Given the description of an element on the screen output the (x, y) to click on. 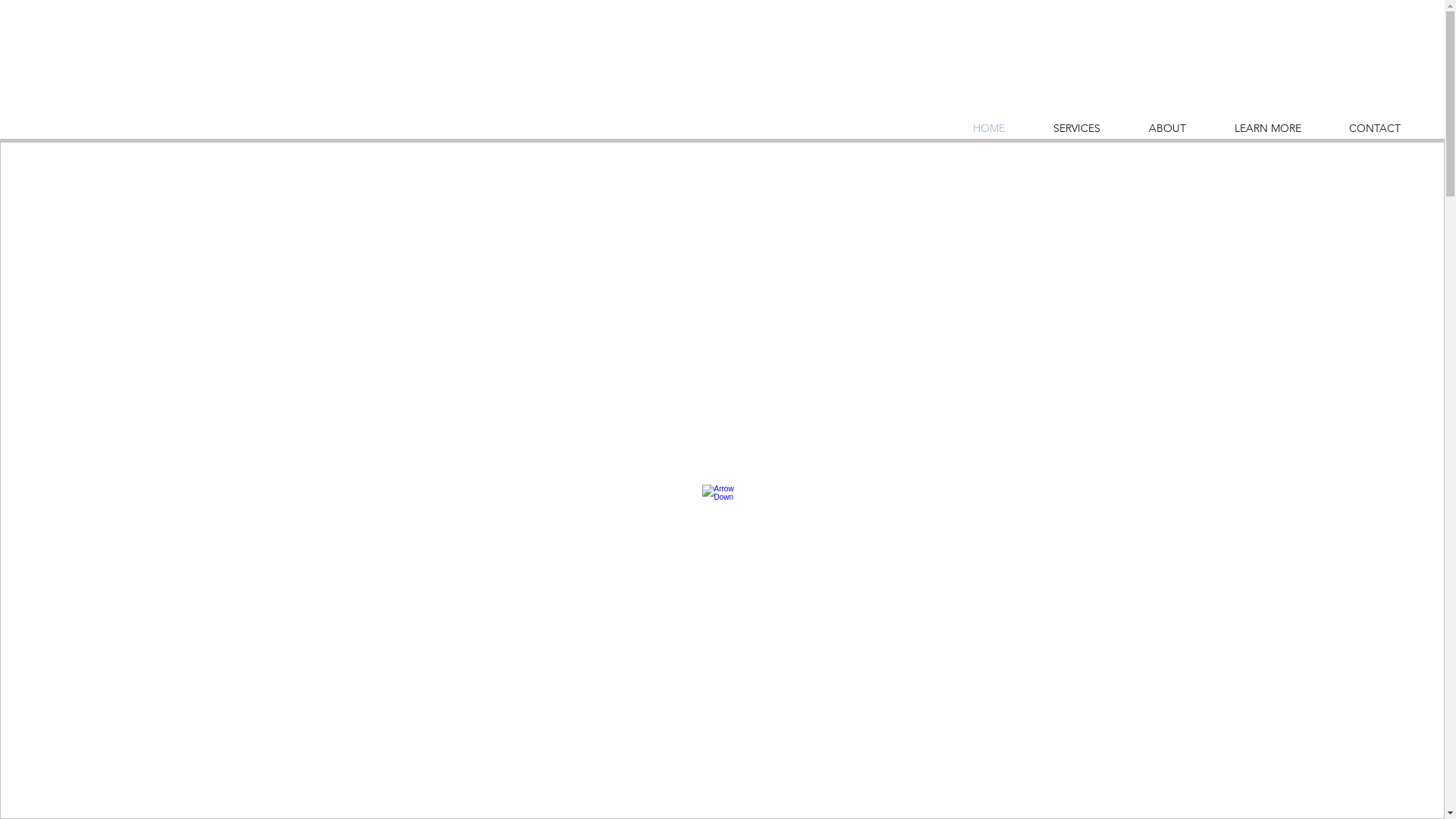
SERVICES Element type: text (1076, 128)
HOME Element type: text (988, 128)
CONTACT Element type: text (1374, 128)
LEARN MORE Element type: text (1267, 128)
ABOUT Element type: text (1167, 128)
